Given the description of an element on the screen output the (x, y) to click on. 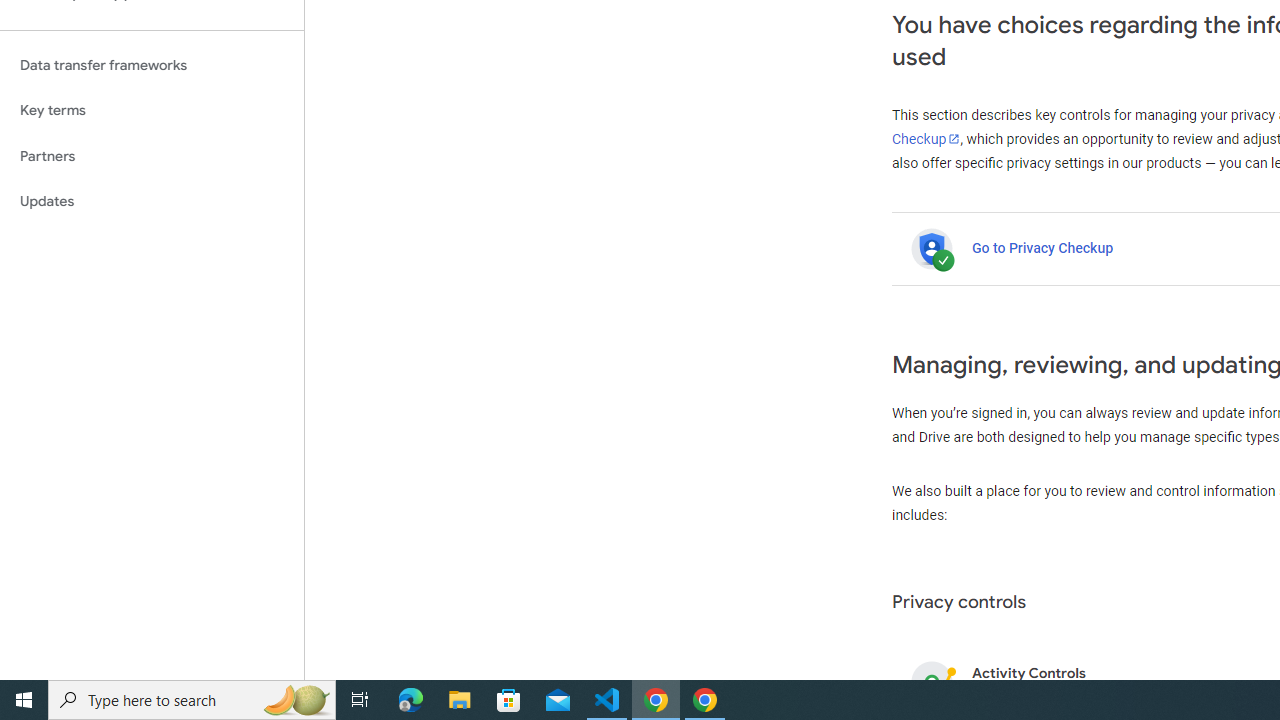
Go to Privacy Checkup (1042, 248)
